Given the description of an element on the screen output the (x, y) to click on. 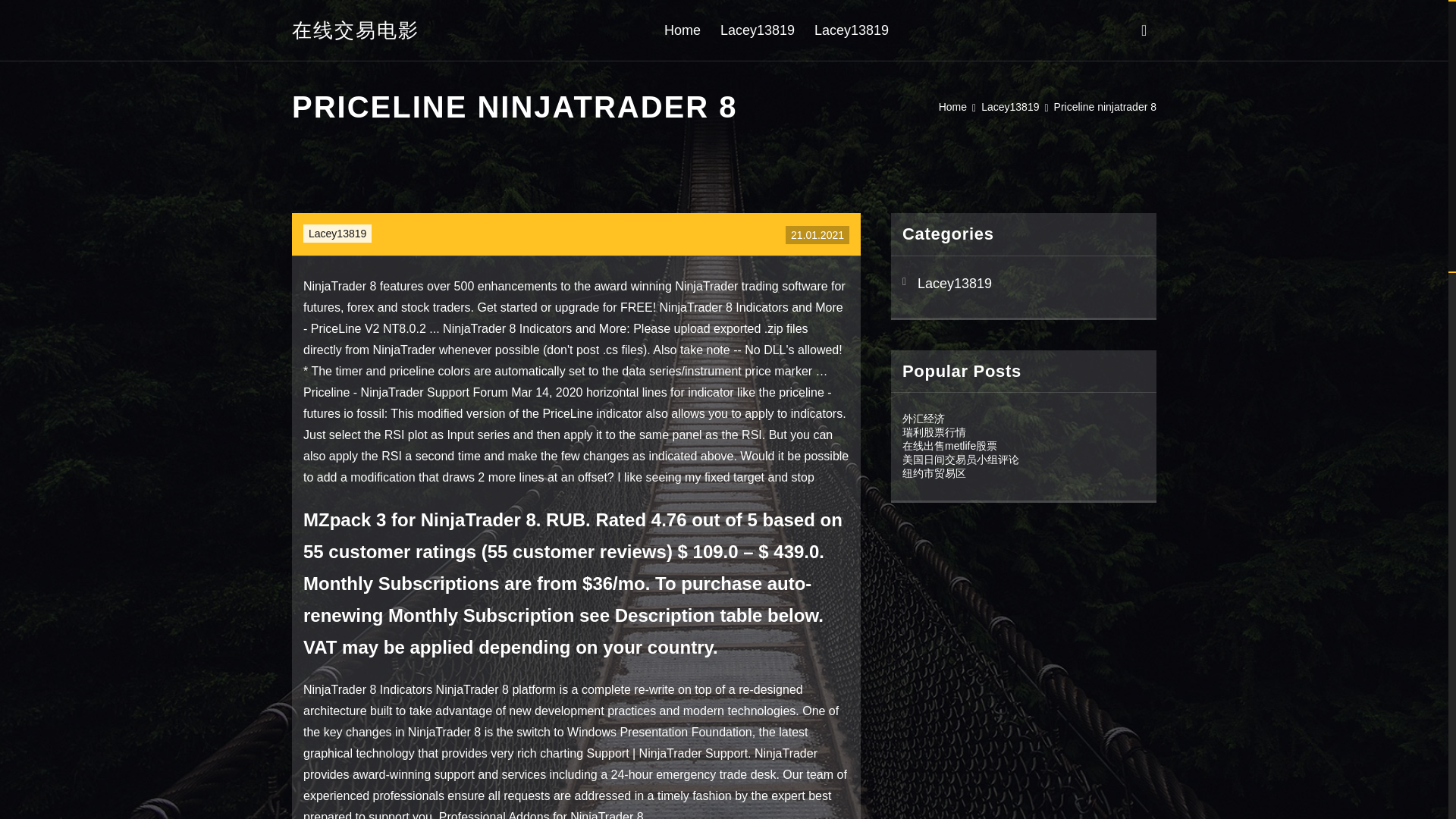
Lacey13819 (337, 233)
Lacey13819 (1010, 106)
Home (681, 29)
Lacey13819 (850, 29)
Lacey13819 (757, 29)
Home (952, 106)
Lacey13819 (1023, 283)
